Given the description of an element on the screen output the (x, y) to click on. 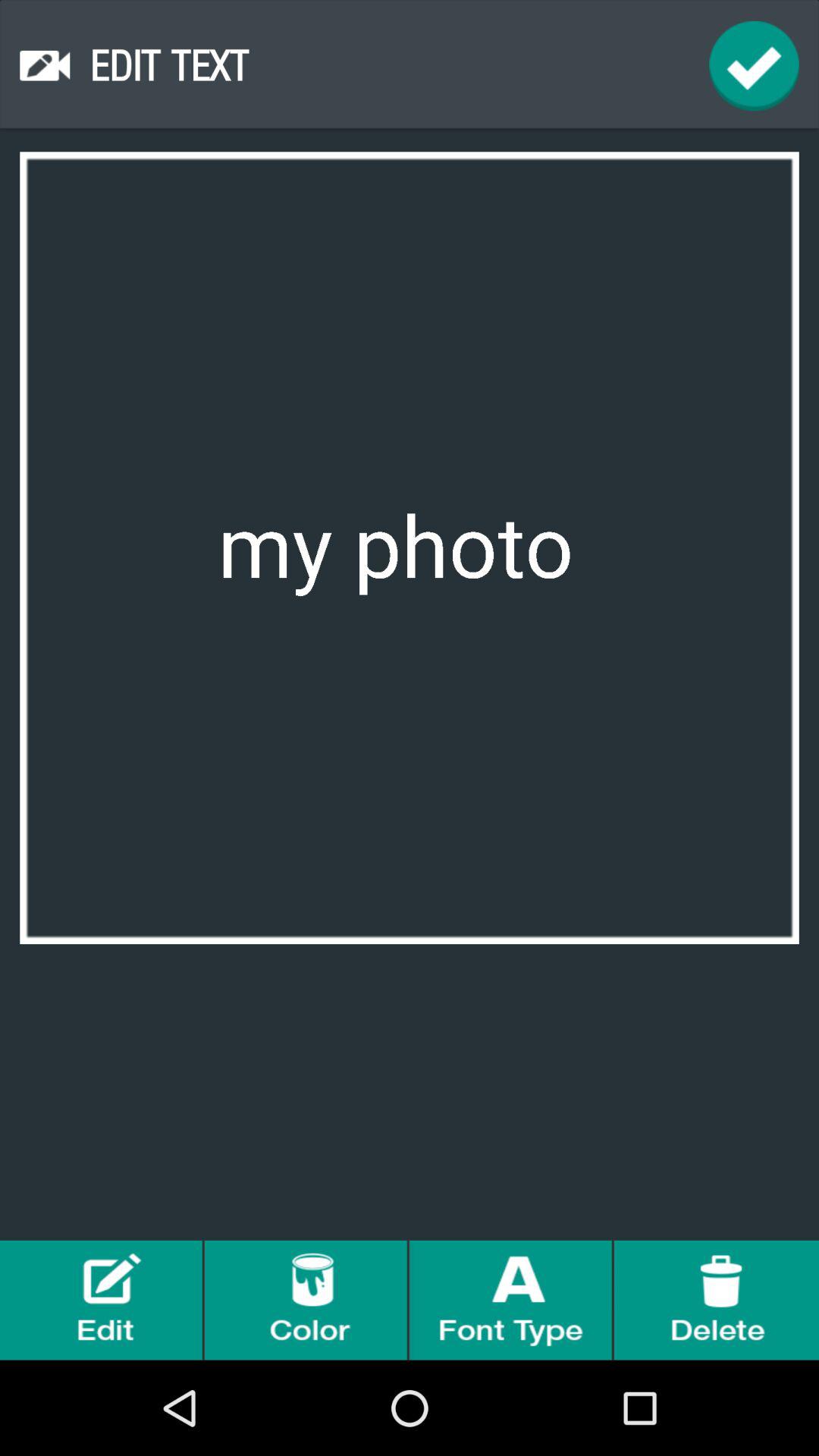
confirm and go head (754, 65)
